Given the description of an element on the screen output the (x, y) to click on. 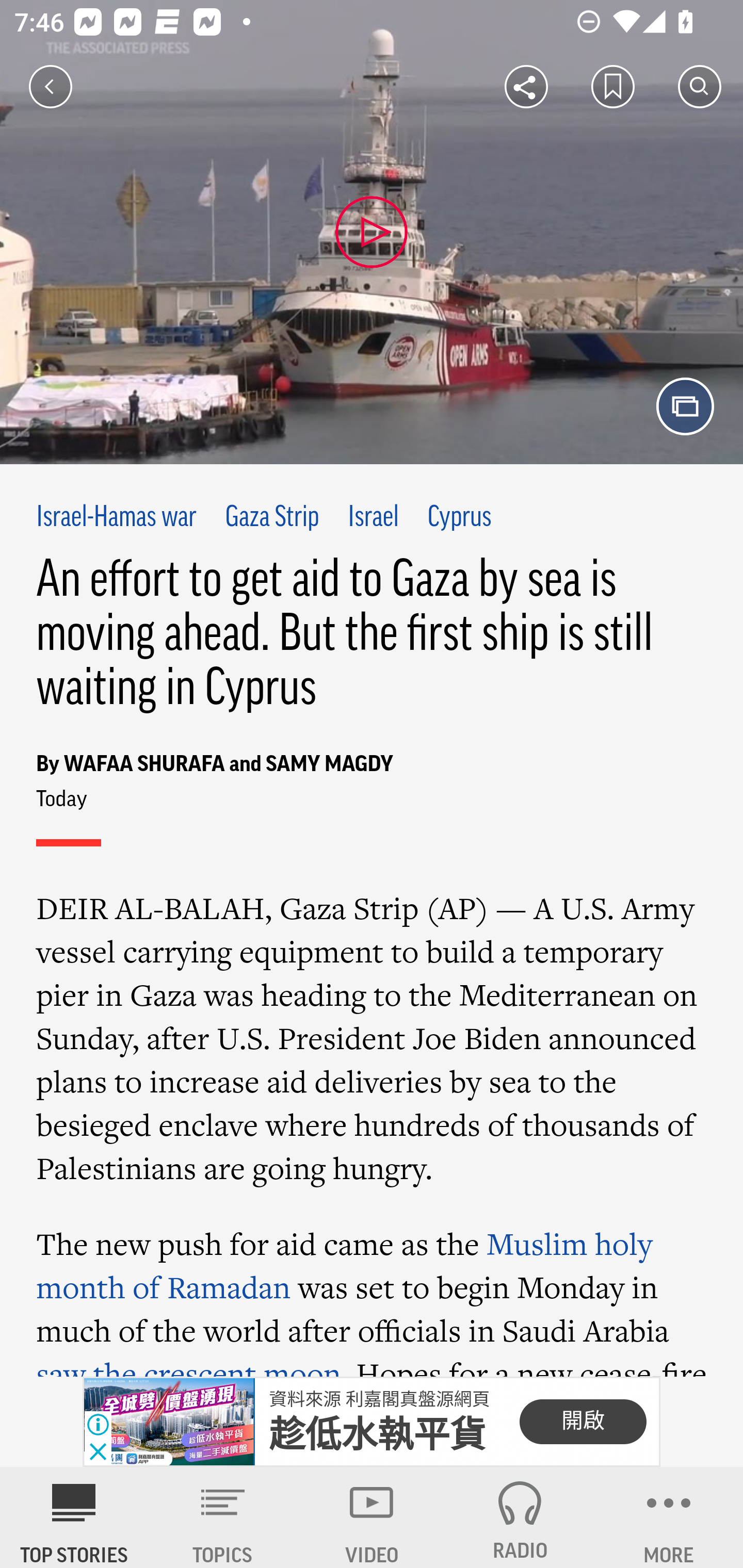
Israel-Hamas war (117, 518)
Gaza Strip (271, 518)
Israel (373, 518)
Cyprus (459, 518)
Muslim holy month of Ramadan (344, 1266)
B29121719 (168, 1421)
資料來源 利嘉閣真盤源網頁 (379, 1399)
開啟 (582, 1421)
趁低水執平貨 (377, 1435)
AP News TOP STORIES (74, 1517)
TOPICS (222, 1517)
VIDEO (371, 1517)
RADIO (519, 1517)
MORE (668, 1517)
